Given the description of an element on the screen output the (x, y) to click on. 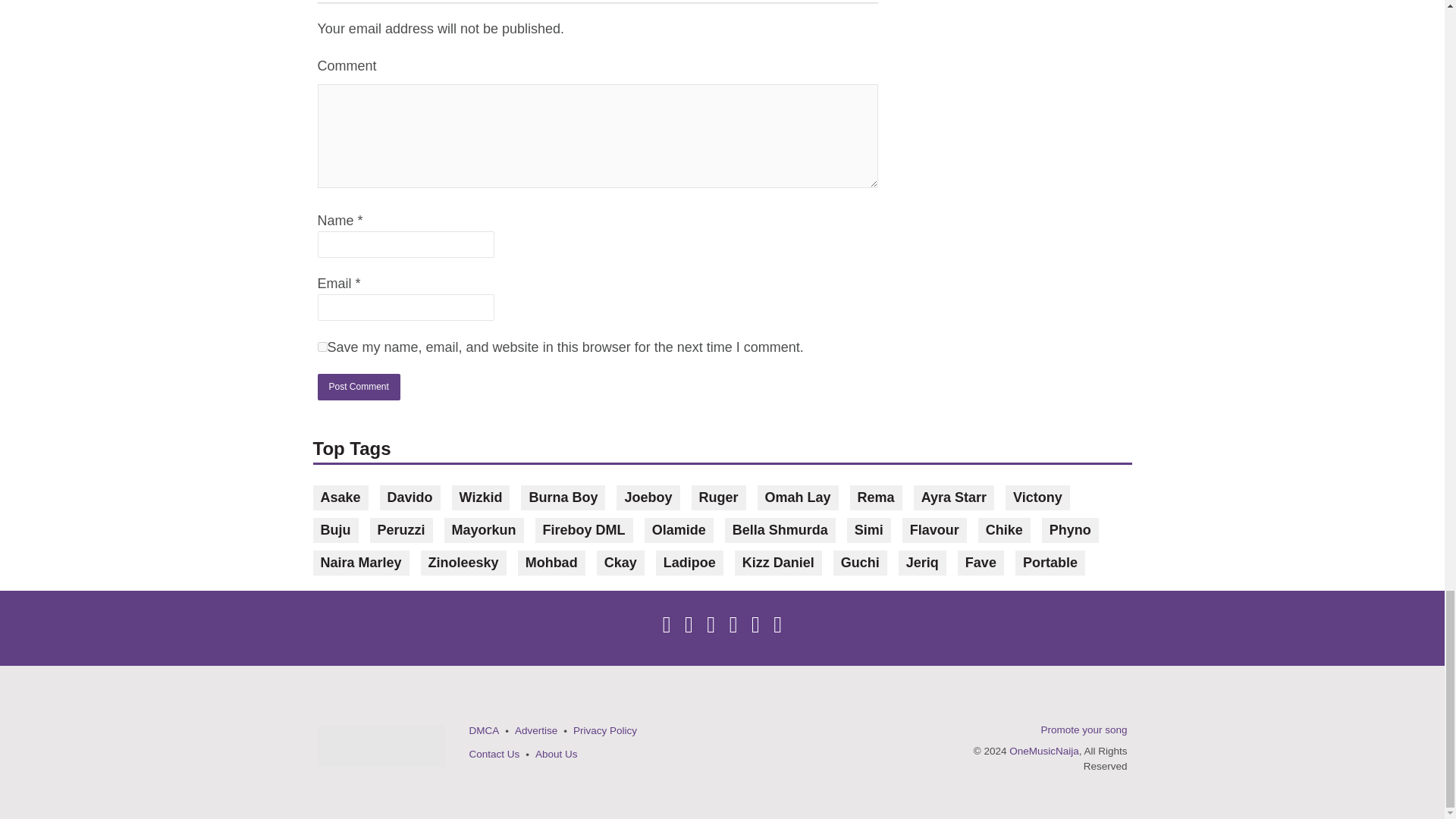
Post Comment (357, 386)
yes (321, 347)
